Given the description of an element on the screen output the (x, y) to click on. 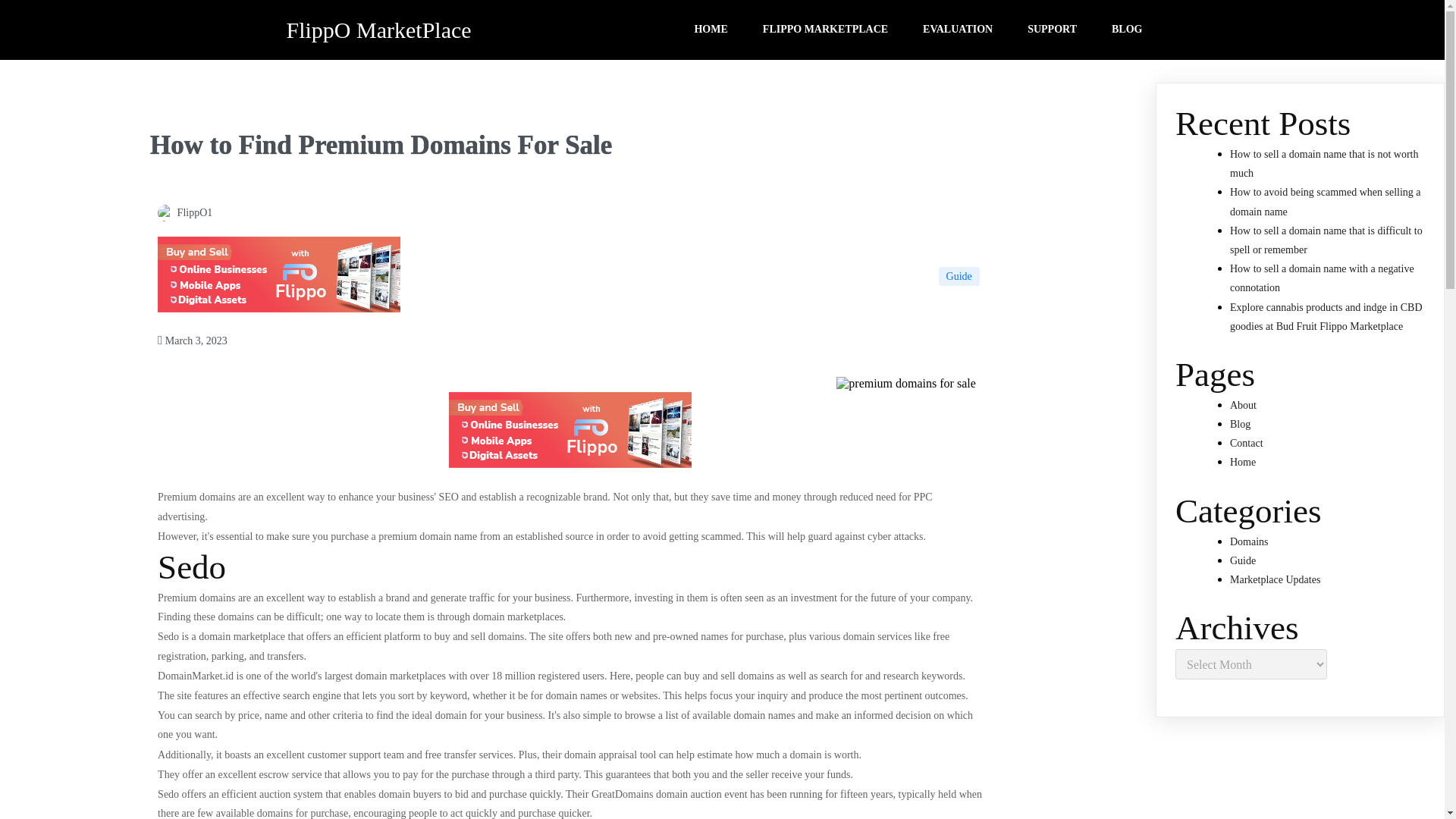
Home (1242, 461)
About (1243, 405)
How to sell a domain name with a negative connotation (1321, 277)
Website For Sell FlippO (278, 308)
SUPPORT (1052, 29)
How to Find Premium Domains For Sale (165, 212)
Contact (1246, 442)
Blog (1240, 423)
How to avoid being scammed when selling a domain name (1325, 201)
